Given the description of an element on the screen output the (x, y) to click on. 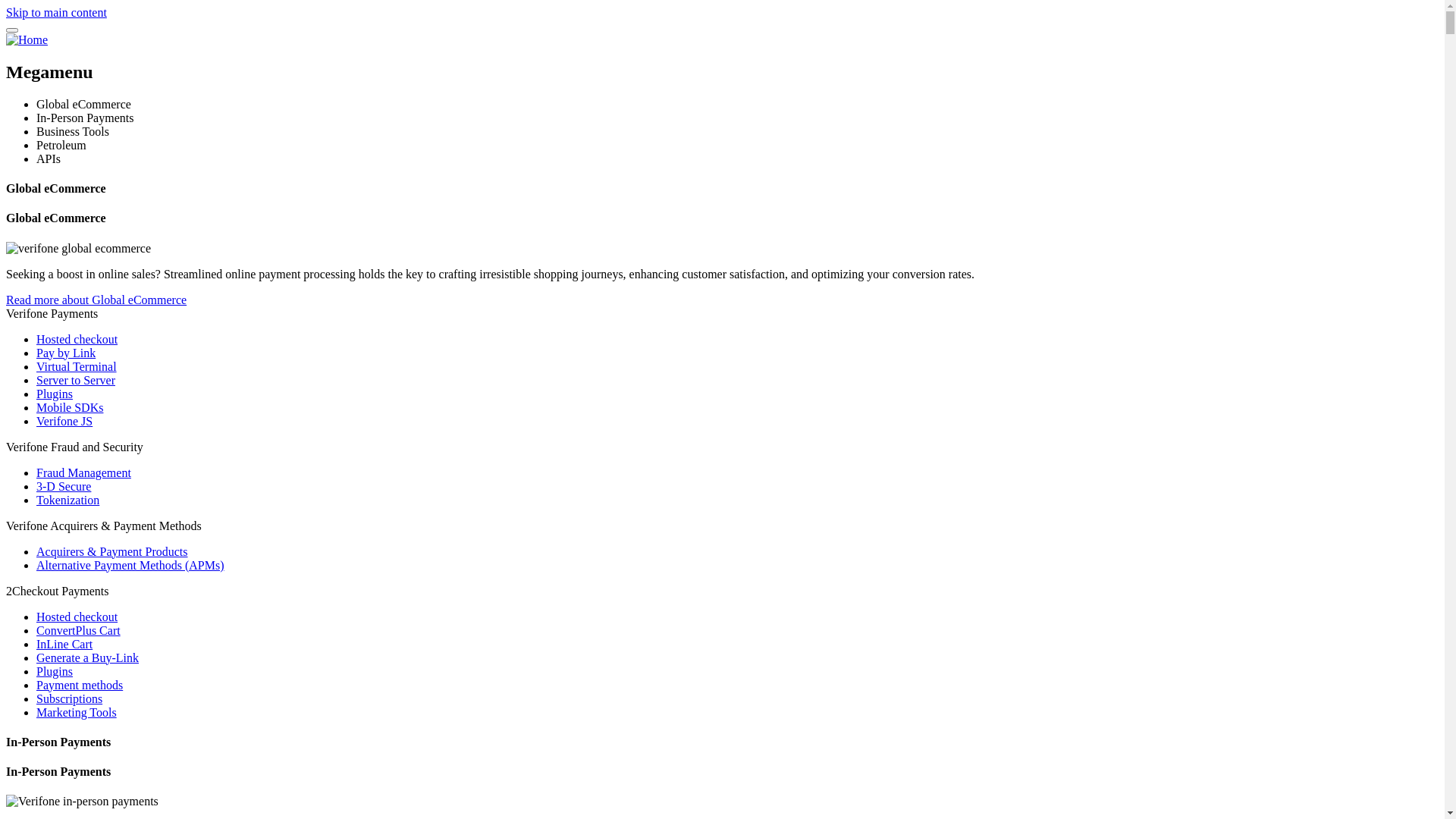
Skip to main content Element type: text (56, 12)
Home Element type: hover (26, 39)
